Given the description of an element on the screen output the (x, y) to click on. 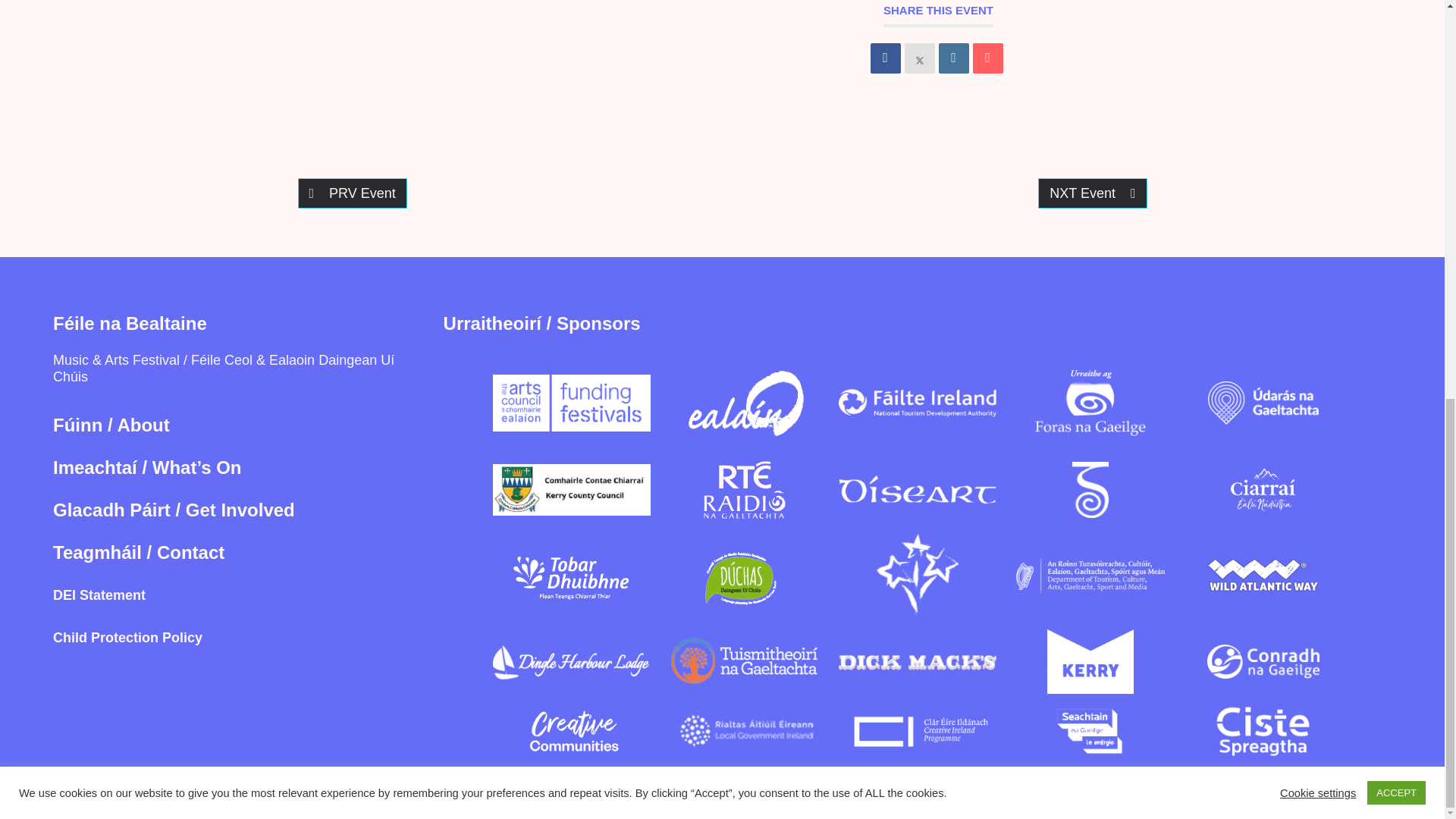
Email (987, 58)
Share on Facebook (885, 58)
Linkedin (954, 58)
X Social Network (919, 58)
